Given the description of an element on the screen output the (x, y) to click on. 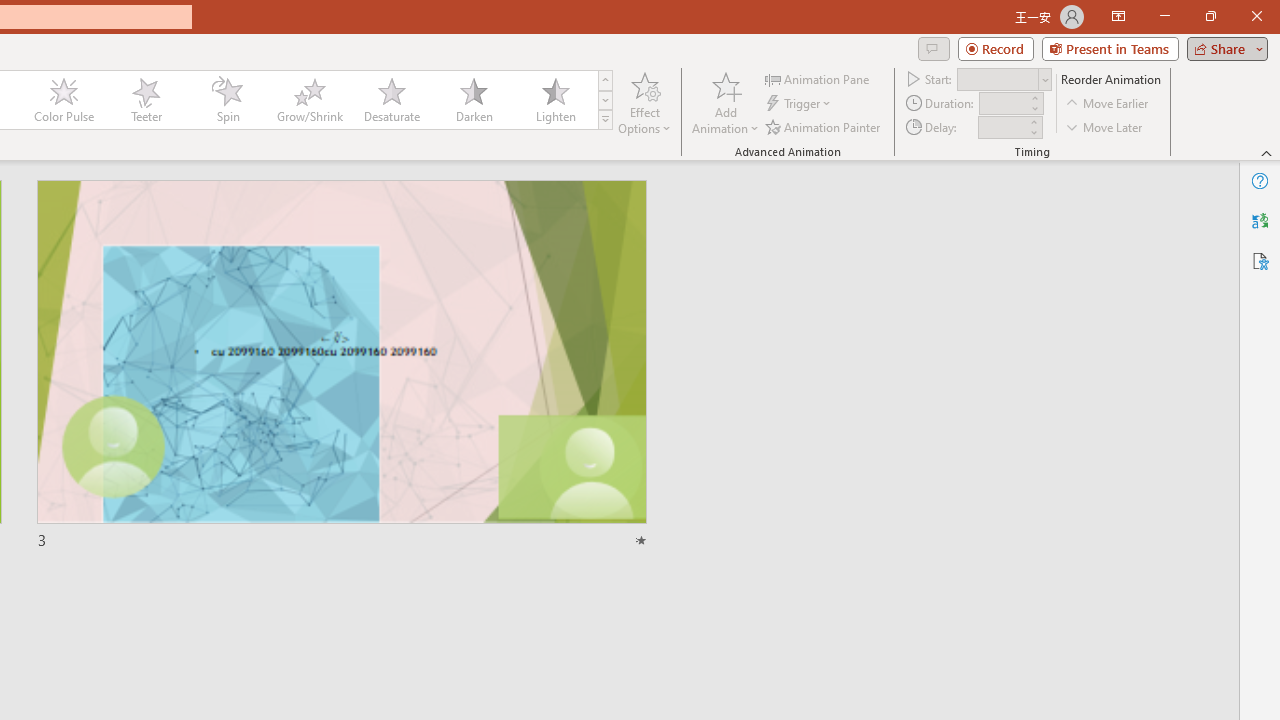
Animation Styles (605, 120)
Animation Painter (824, 126)
Add Animation (725, 102)
Animation Delay (1002, 127)
Animation Pane (818, 78)
Color Pulse (63, 100)
Spin (227, 100)
